Given the description of an element on the screen output the (x, y) to click on. 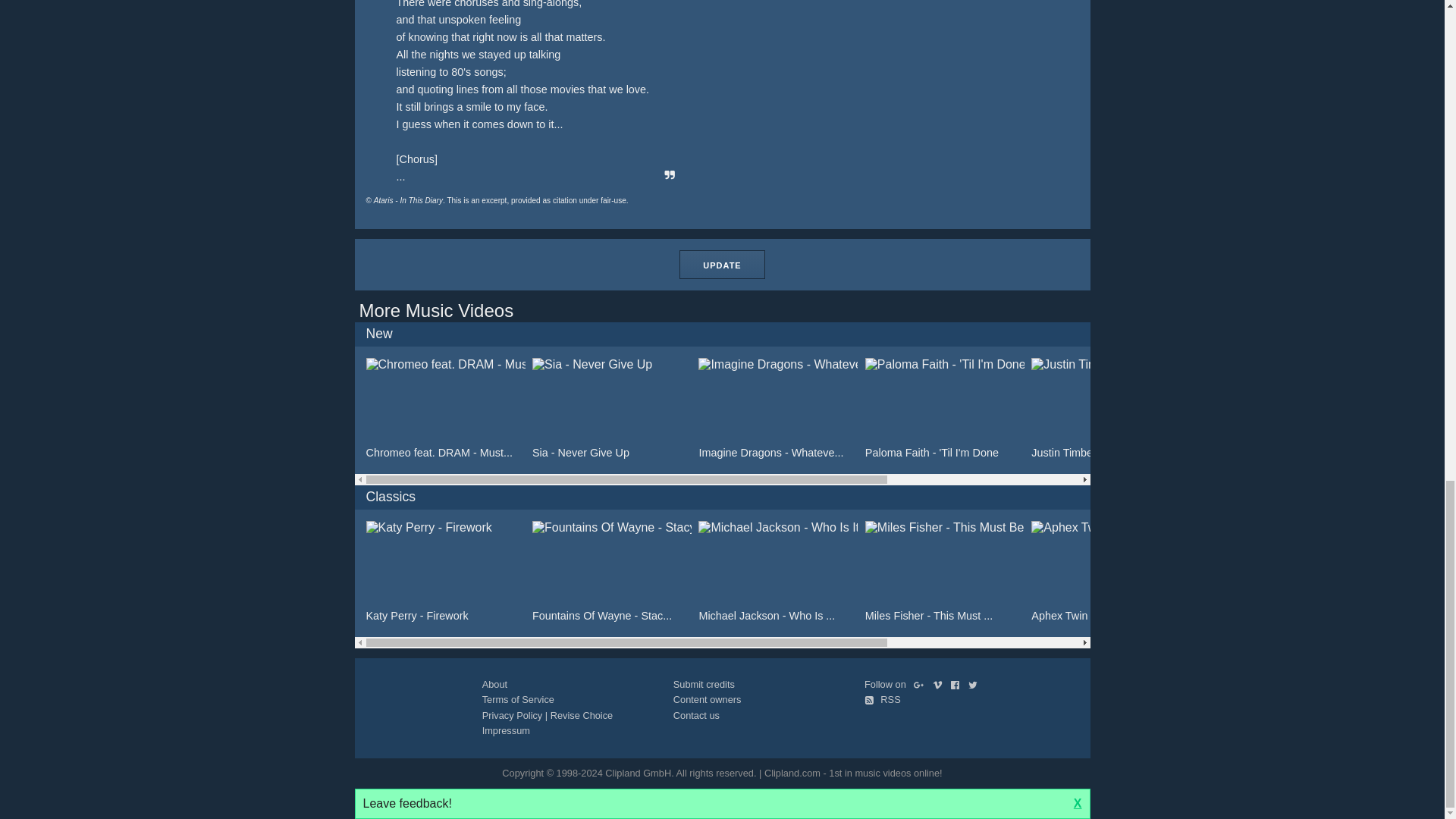
Imagine Dragons - Whatever It Takes (777, 408)
Music Videos Database (436, 310)
Contact us (695, 715)
Chromeo feat. DRAM - Must've Been (444, 408)
More Music Videos (436, 310)
Paloma Faith - 'Til I'm Done (944, 408)
Katy Perry - Firework (444, 571)
Michael Jackson - Who Is ... (777, 571)
UPDATE (721, 264)
Impressum (505, 730)
